Given the description of an element on the screen output the (x, y) to click on. 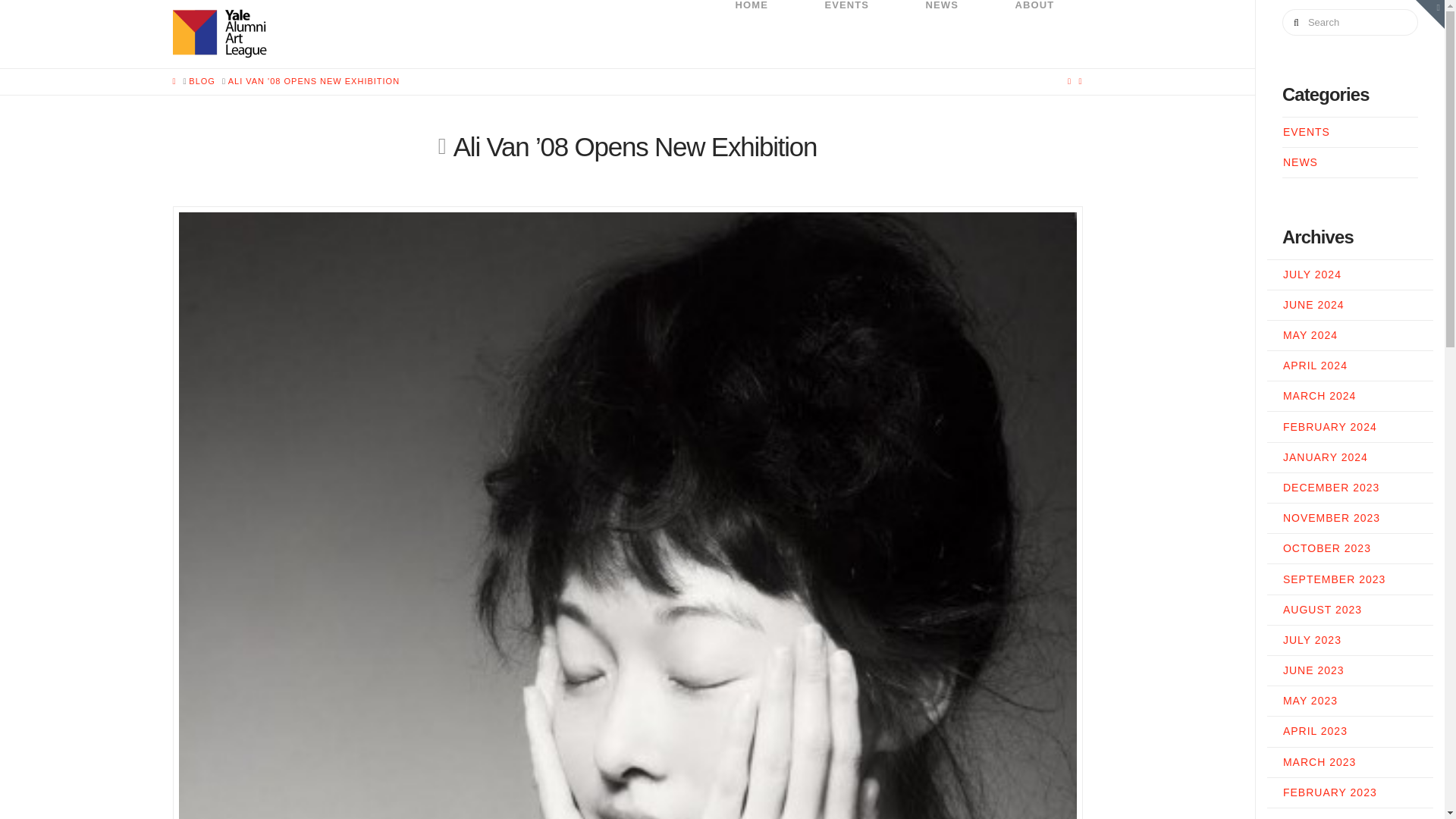
OCTOBER 2023 (1326, 548)
JANUARY 2023 (1325, 817)
APRIL 2023 (1315, 730)
MAY 2024 (1310, 335)
MARCH 2023 (1318, 761)
ABOUT (1034, 33)
AUGUST 2023 (1321, 609)
SEPTEMBER 2023 (1334, 579)
ALI VAN '08 OPENS NEW EXHIBITION (313, 81)
BLOG (202, 81)
